Given the description of an element on the screen output the (x, y) to click on. 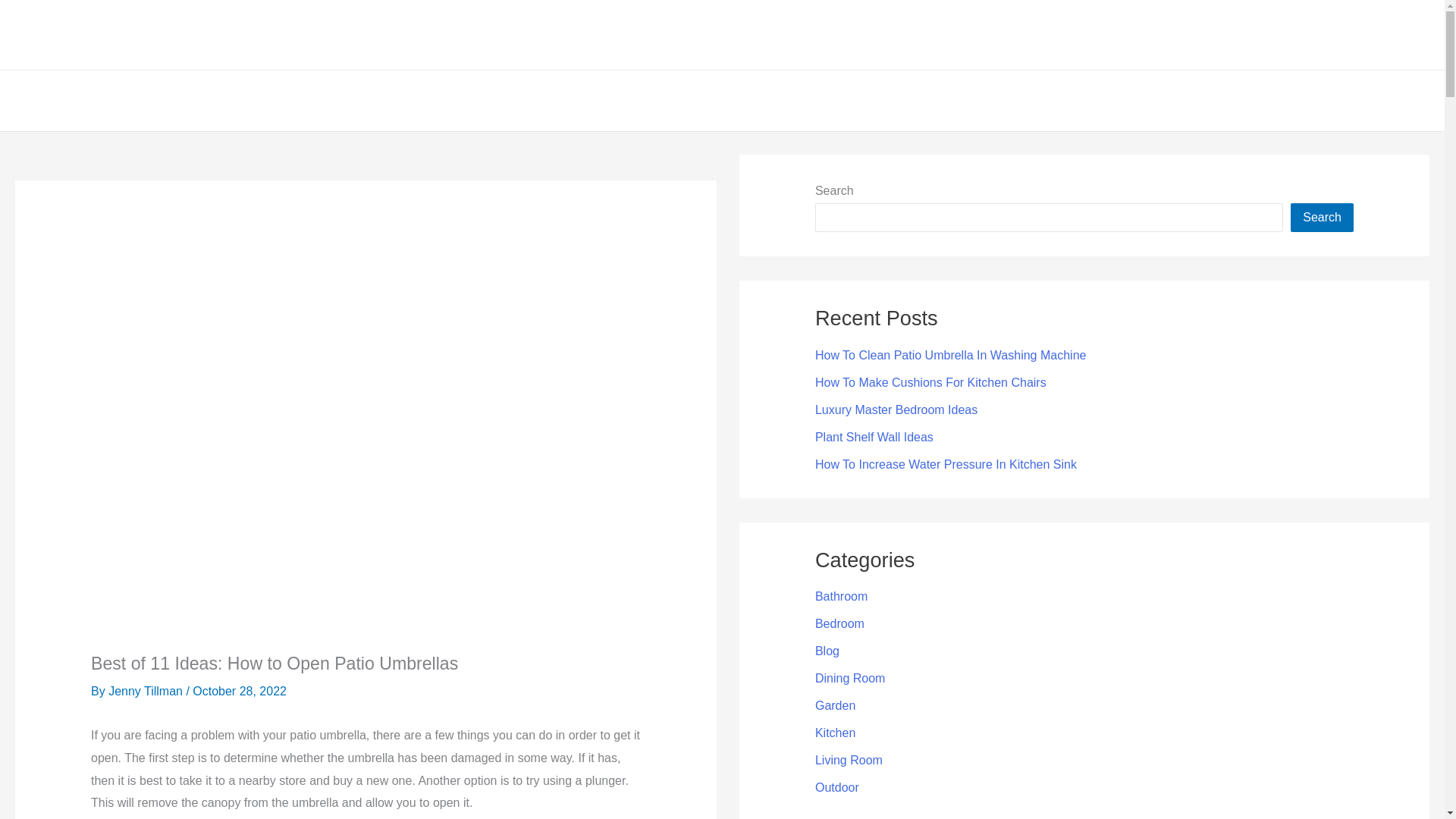
Outdoor (837, 787)
Search (1322, 217)
Garden (916, 100)
View all posts by Jenny Tillman (146, 690)
Living Room (848, 759)
Luxury Master Bedroom Ideas (895, 409)
Bathroom (741, 100)
Kitchen (835, 732)
Jenny Tillman (146, 690)
How To Clean Patio Umbrella In Washing Machine (950, 354)
Bedroom (839, 623)
Bathroom (841, 595)
Garden (835, 705)
Outdoor (860, 100)
How To Make Cushions For Kitchen Chairs (930, 382)
